Given the description of an element on the screen output the (x, y) to click on. 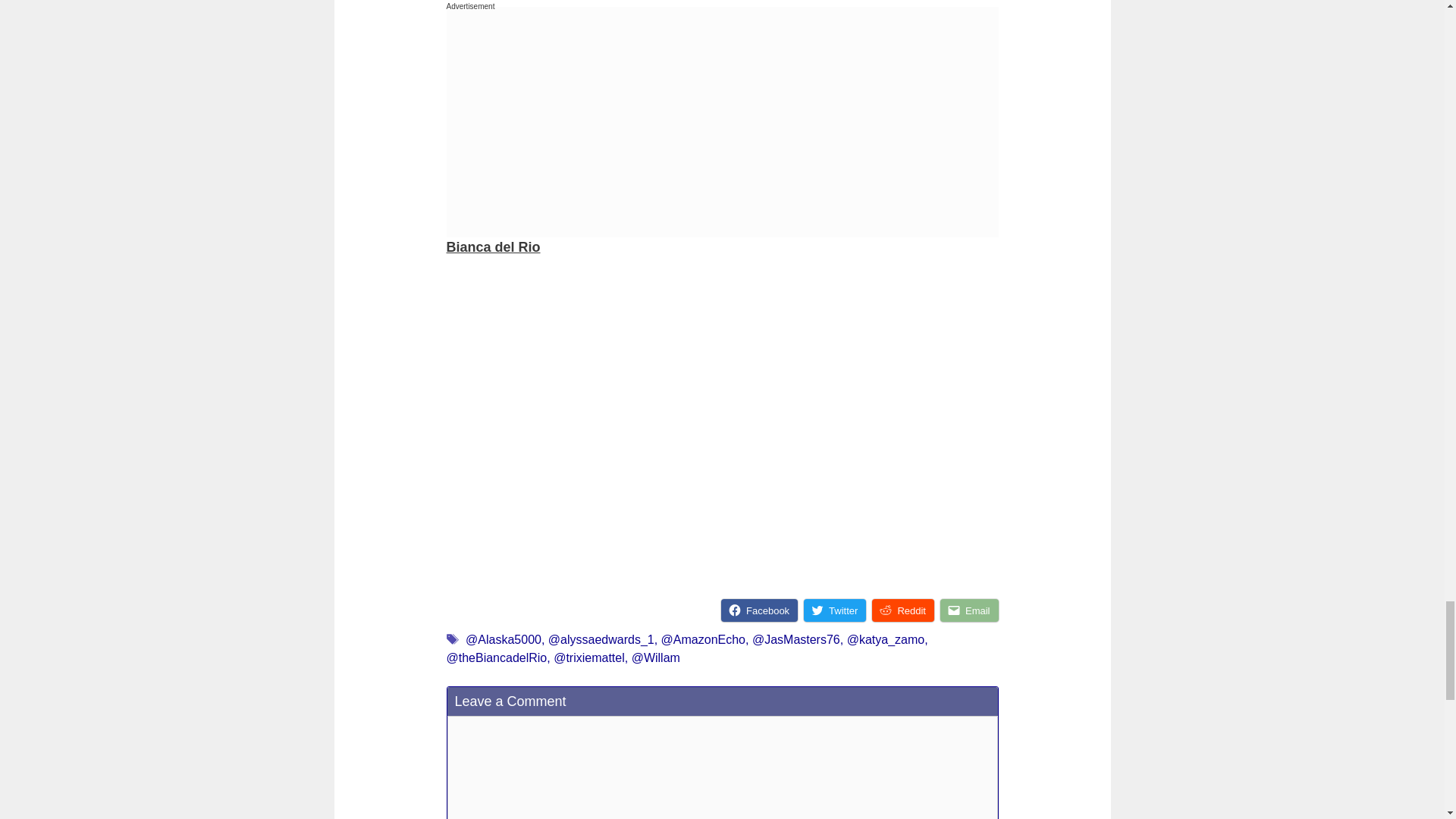
Facebook (758, 609)
Twitter (834, 609)
Click to share on Facebook (758, 609)
Click to share on Reddit (903, 609)
Click to share on Twitter (834, 609)
Click to email a link to a friend (969, 609)
Reddit (903, 609)
